Given the description of an element on the screen output the (x, y) to click on. 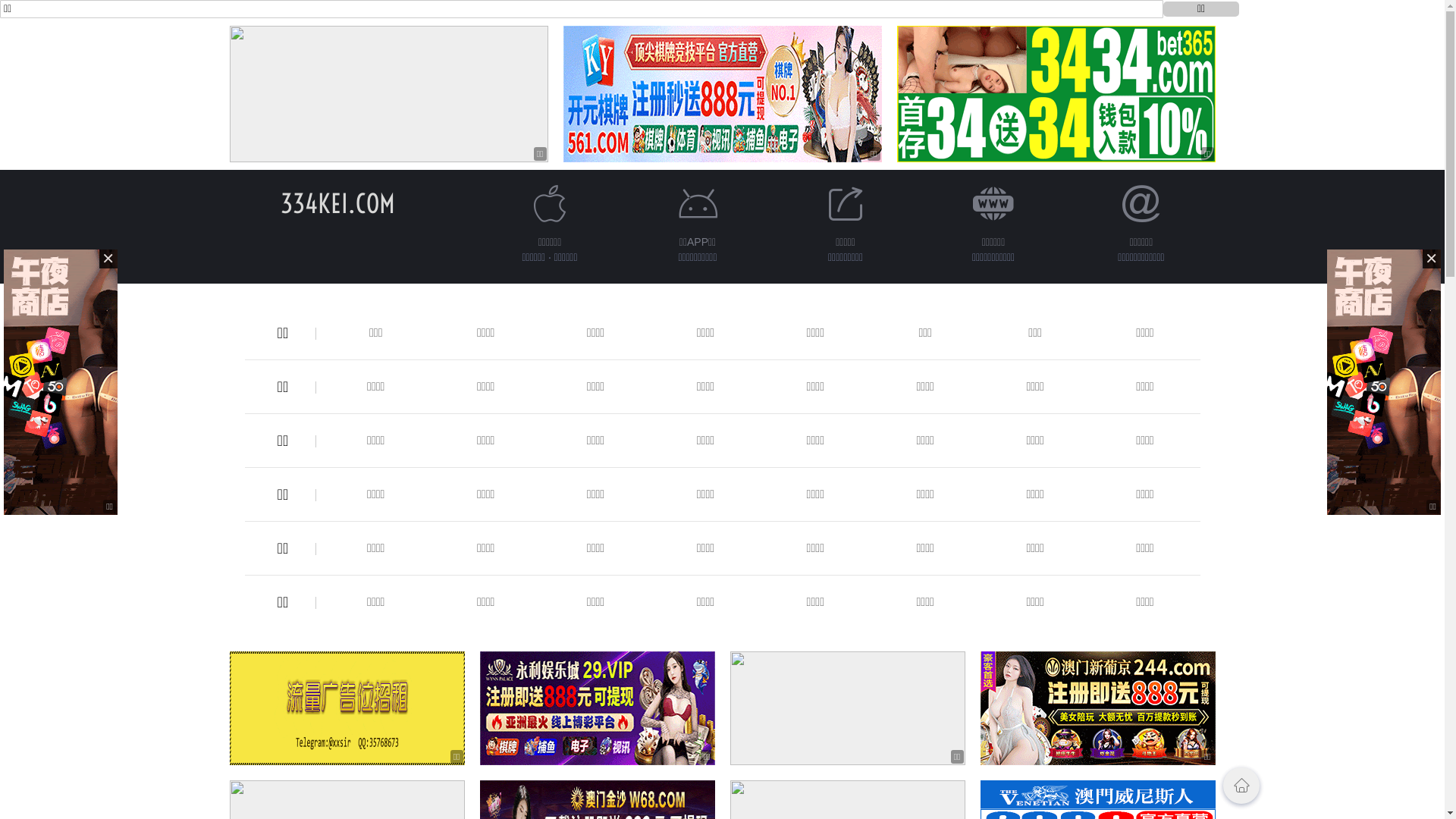
334KEI.COM Element type: text (337, 203)
